Given the description of an element on the screen output the (x, y) to click on. 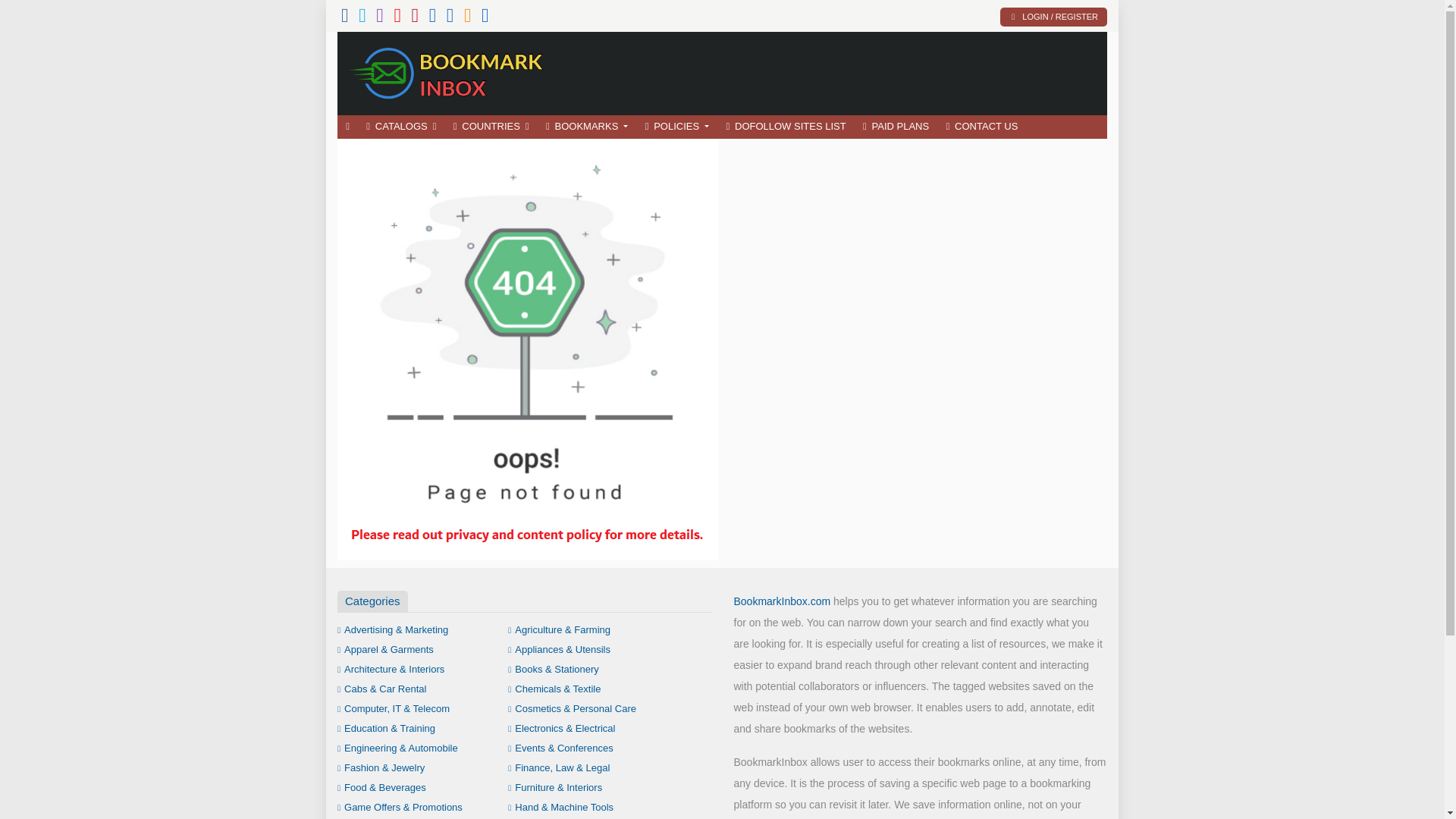
CATALOGS (401, 126)
Tag Your Business Website Using Advanced Social Platform (447, 71)
